Given the description of an element on the screen output the (x, y) to click on. 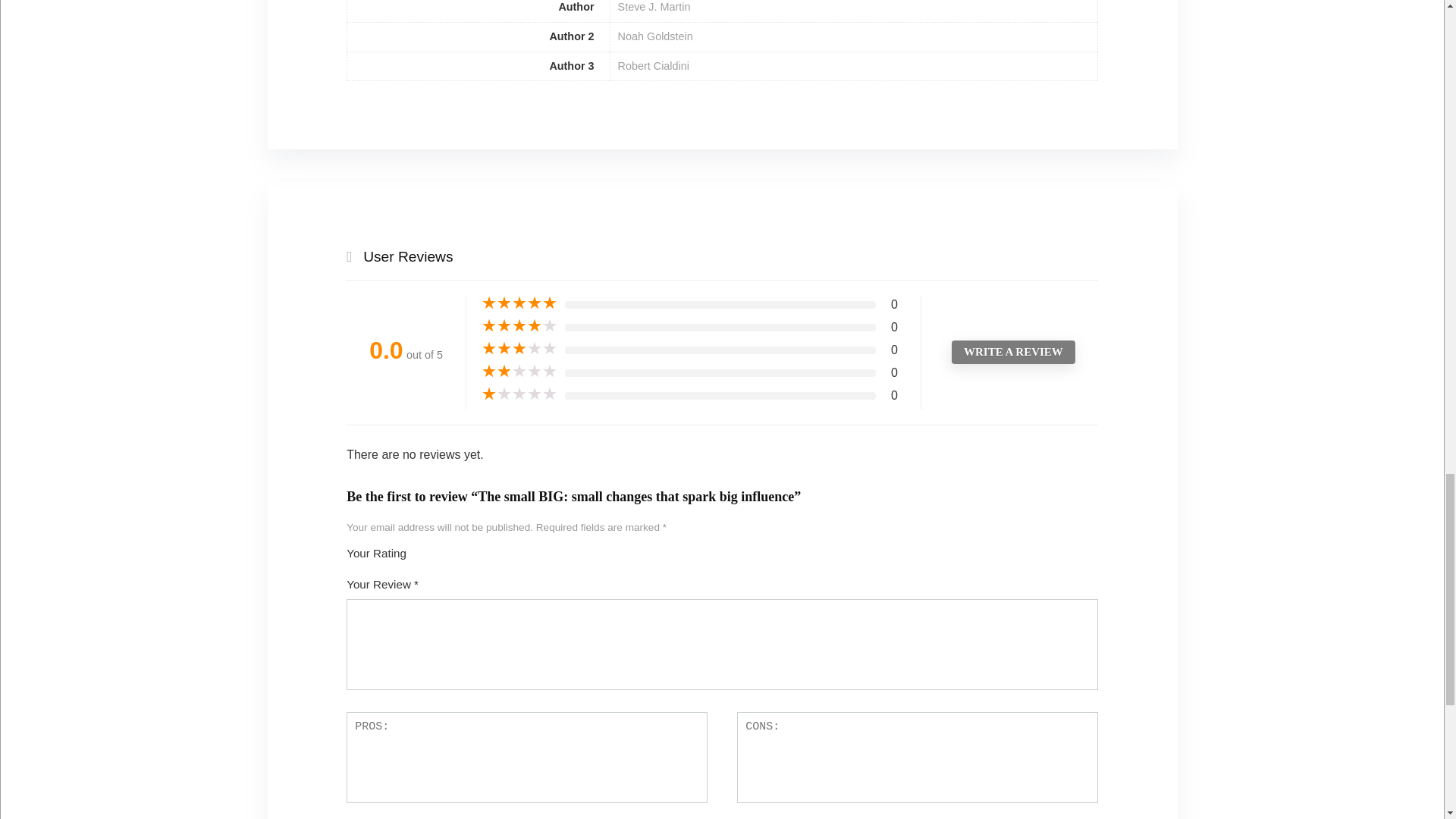
Rated 1 out of 5 (519, 394)
WRITE A REVIEW (1013, 351)
Rated 3 out of 5 (519, 348)
Rated 4 out of 5 (519, 325)
Rated 2 out of 5 (519, 371)
Rated 5 out of 5 (519, 303)
